Given the description of an element on the screen output the (x, y) to click on. 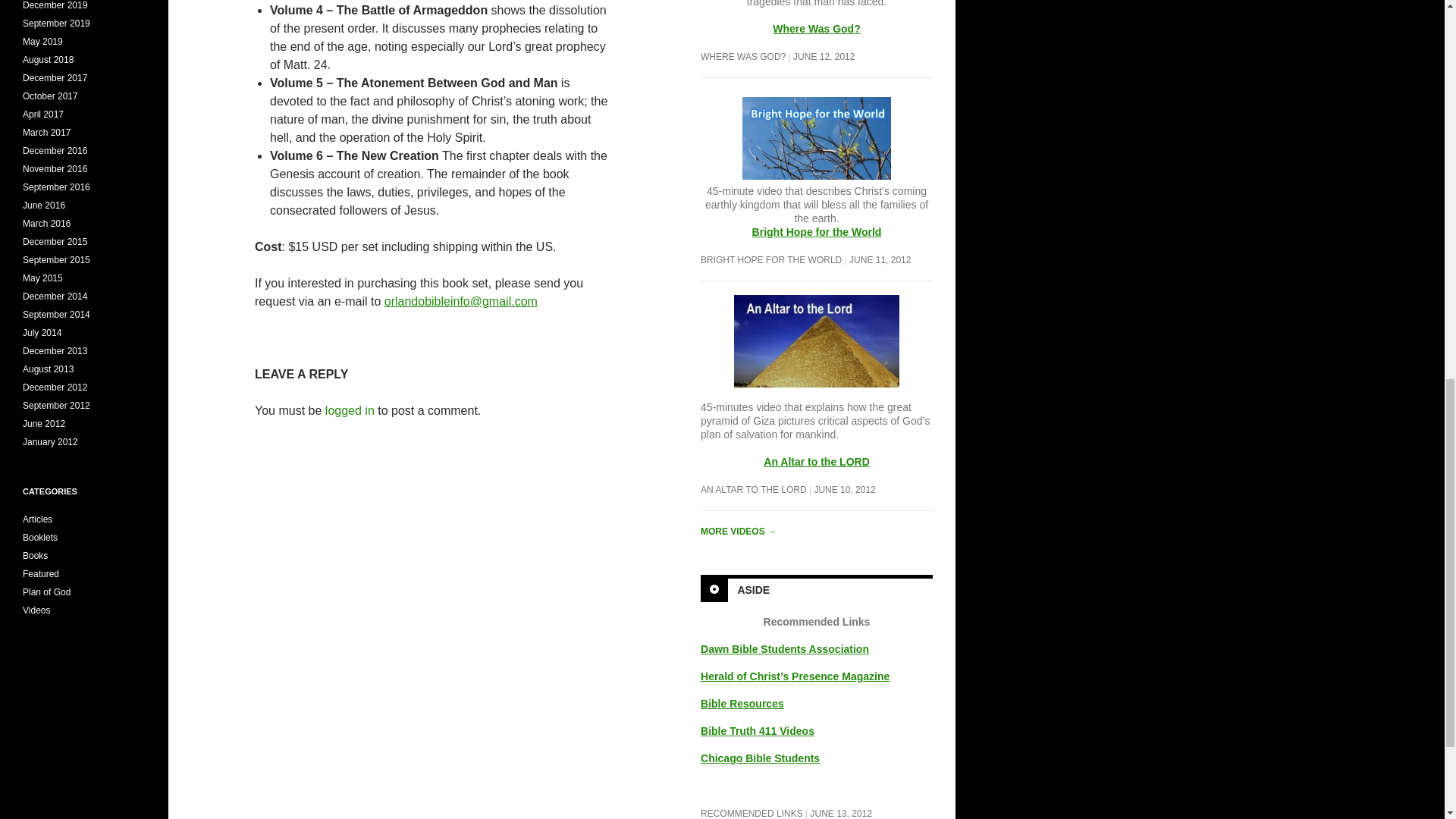
Where Was God? (816, 28)
Bright Hope for the World (816, 147)
Bright Hope for the World (817, 232)
